Given the description of an element on the screen output the (x, y) to click on. 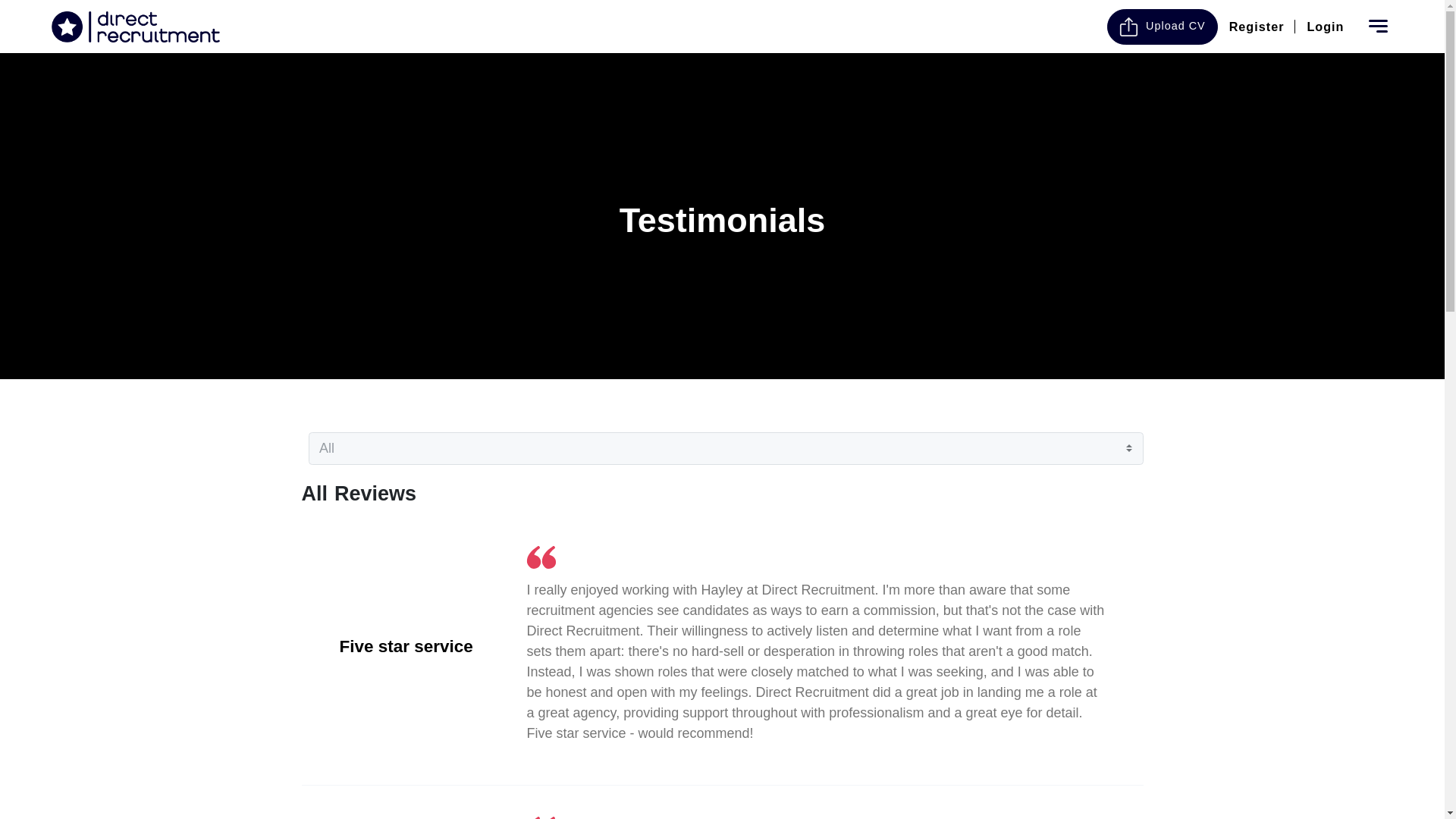
Register (1256, 26)
Upload CV (1161, 27)
Login (1325, 26)
